Given the description of an element on the screen output the (x, y) to click on. 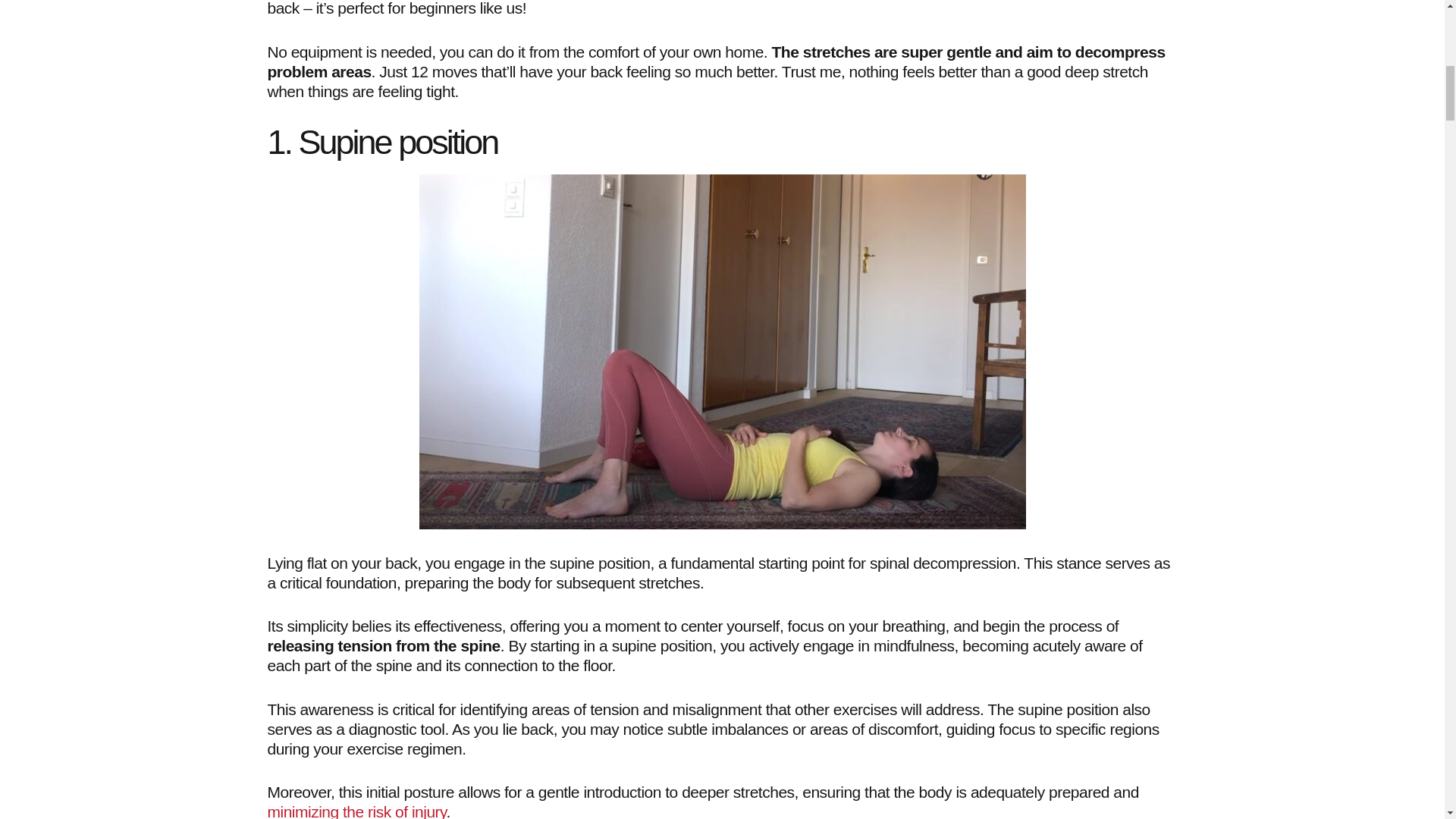
minimizing the risk of injury (355, 811)
